Given the description of an element on the screen output the (x, y) to click on. 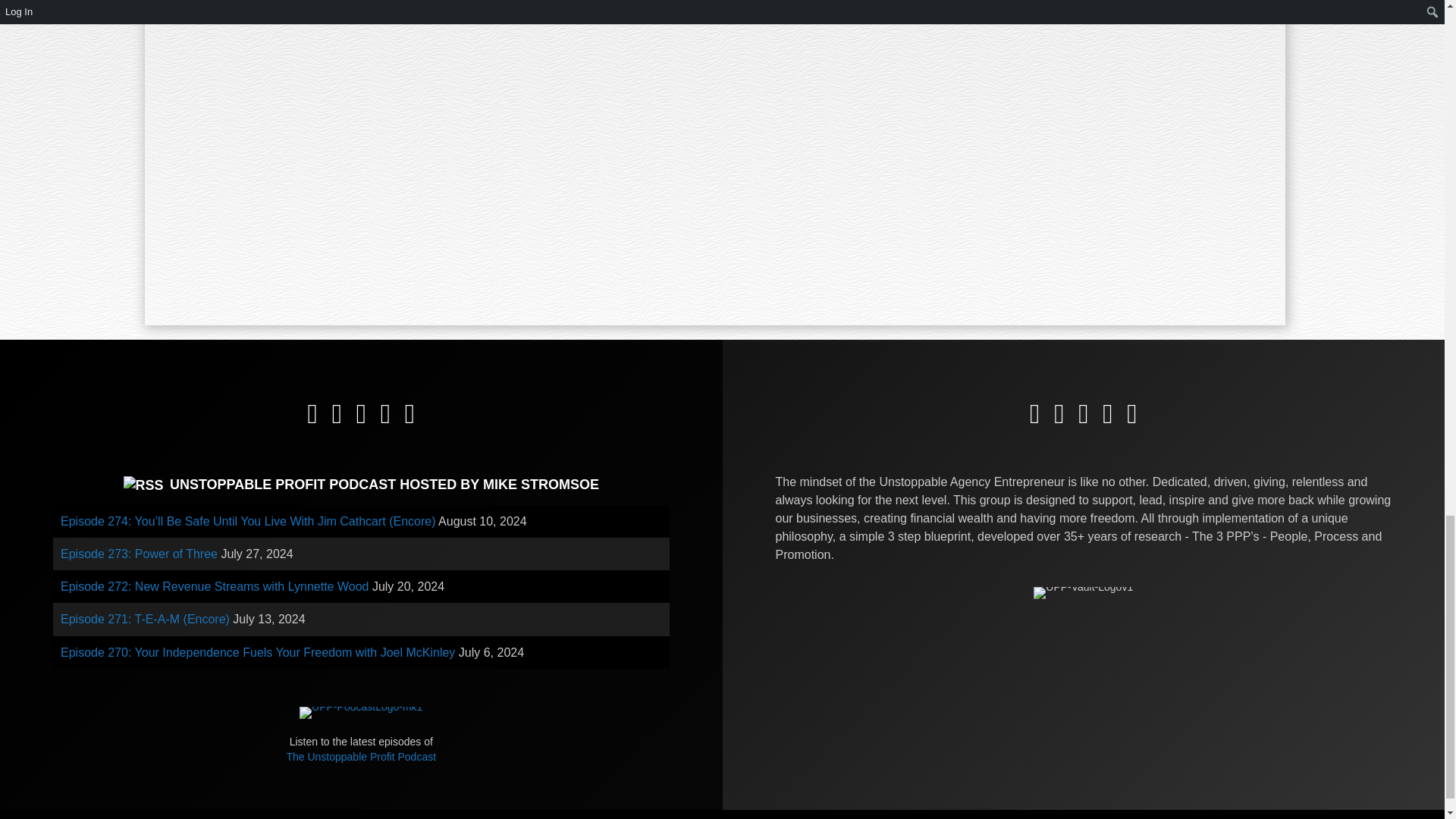
UPP-Vault-Logov1 (1082, 592)
UNSTOPPABLE PROFIT PODCAST HOSTED BY MIKE STROMSOE (384, 484)
Episode 273: Power of Three (138, 553)
UPP-PodcastLogo-mk1 (360, 712)
